Given the description of an element on the screen output the (x, y) to click on. 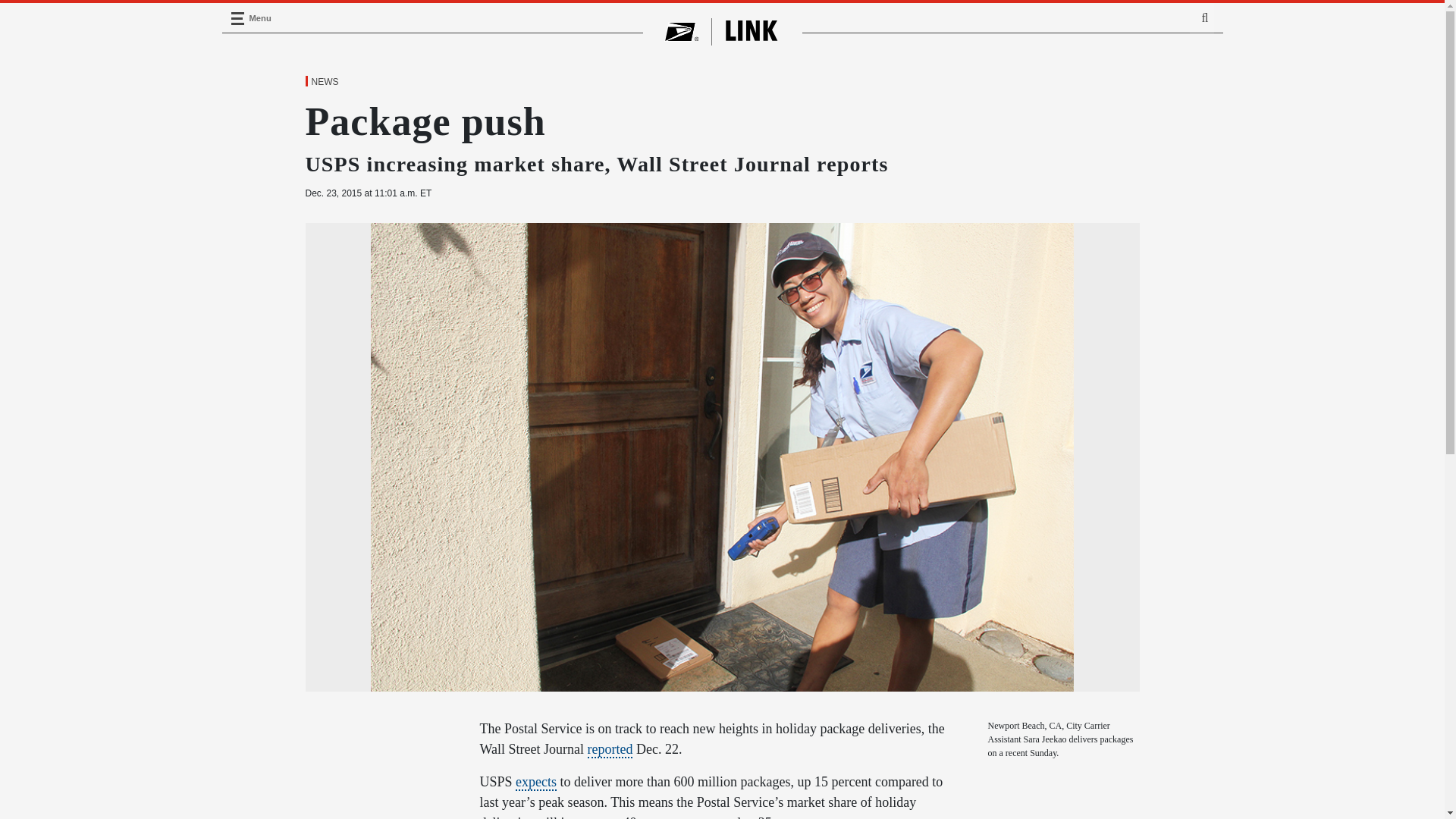
expects (535, 782)
Menu (237, 18)
NEWS (323, 81)
reported (610, 750)
